Given the description of an element on the screen output the (x, y) to click on. 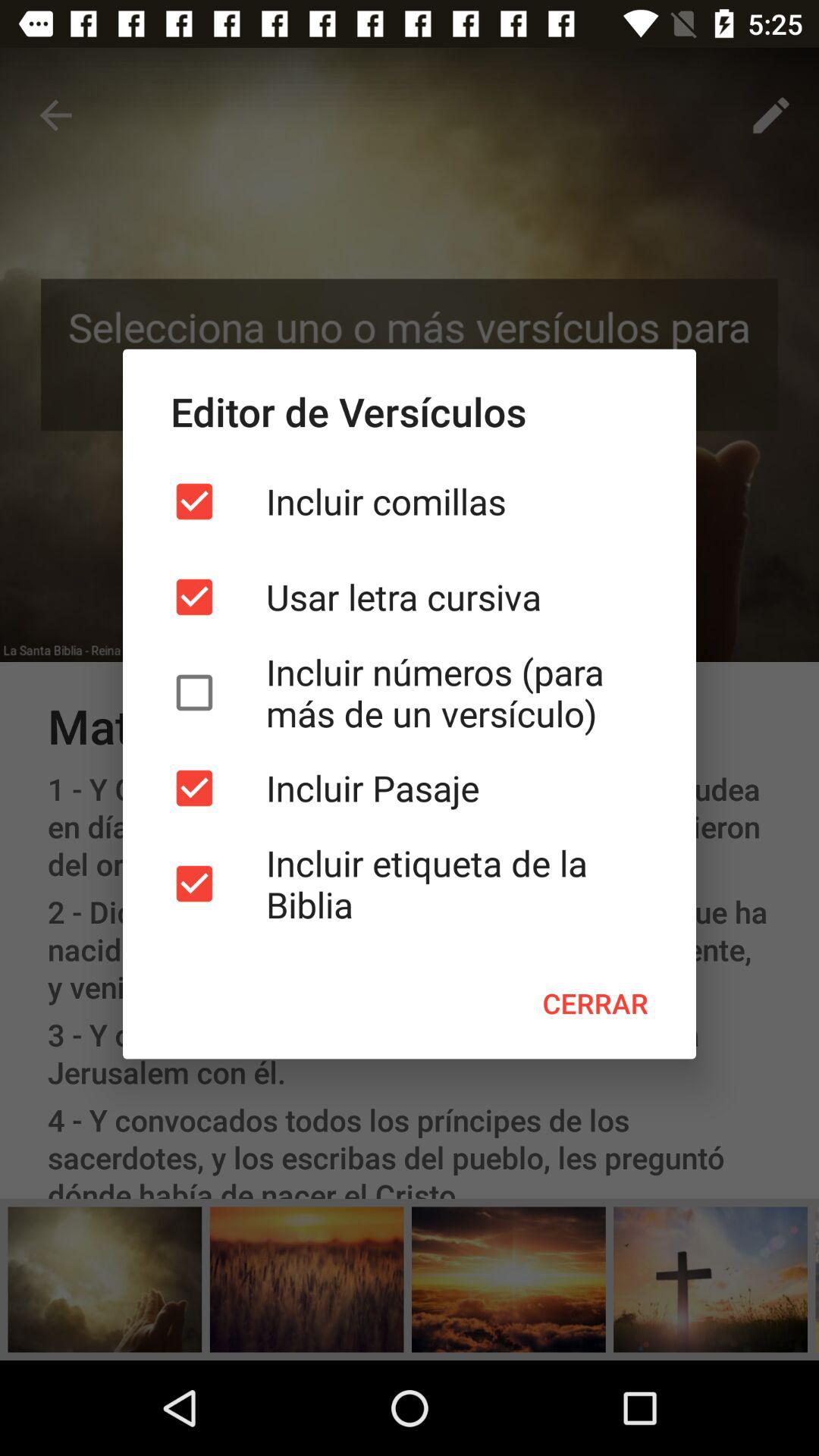
select the incluir etiqueta de item (409, 883)
